Given the description of an element on the screen output the (x, y) to click on. 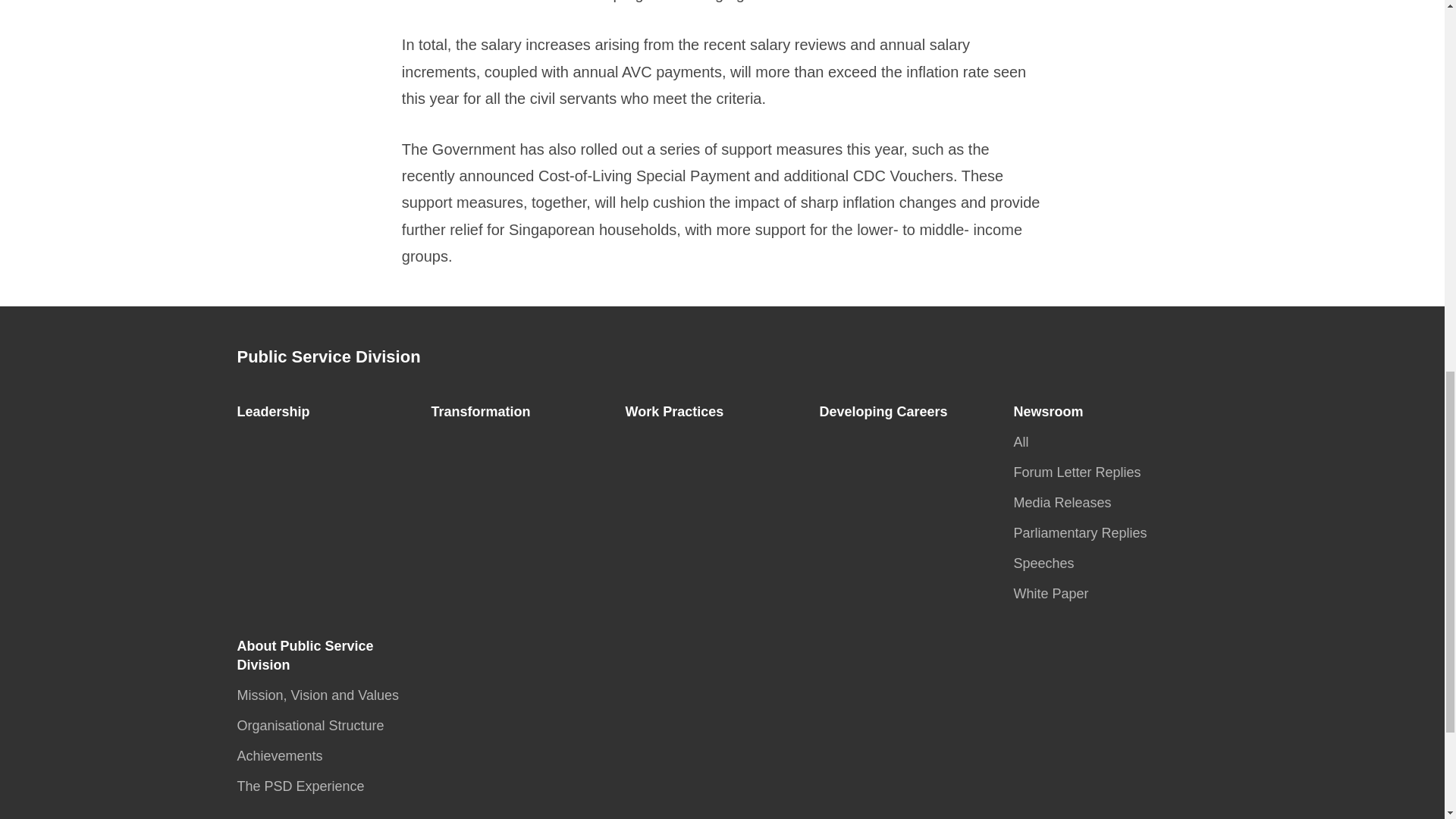
Work Practices (678, 411)
Newsroom (1052, 411)
All (1024, 441)
Media Releases (1066, 502)
Forum Letter Replies (1081, 472)
Leadership (276, 411)
Developing Careers (887, 411)
Parliamentary Replies (1084, 532)
Transformation (484, 411)
